Given the description of an element on the screen output the (x, y) to click on. 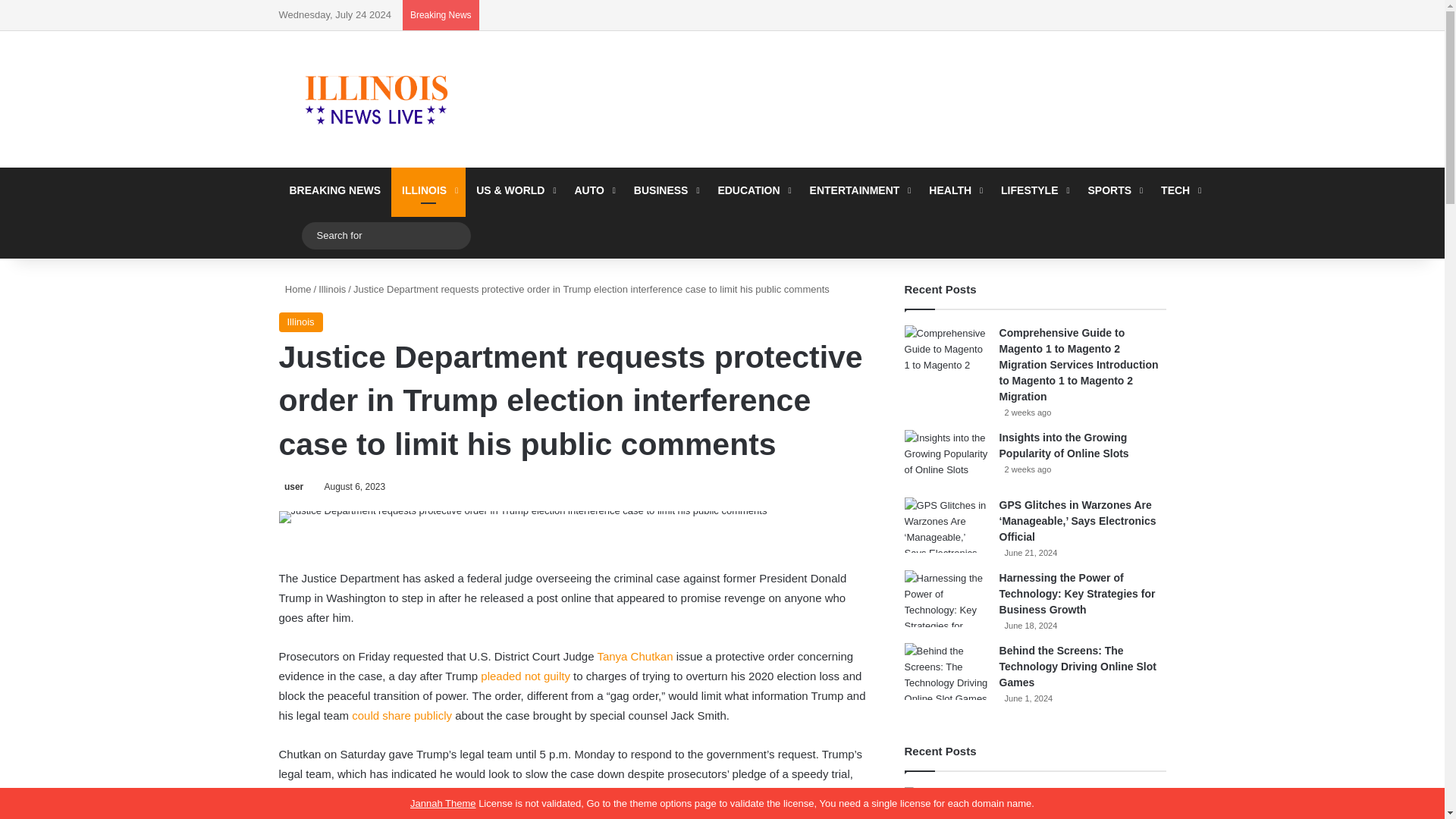
SPORTS (1114, 189)
EDUCATION (751, 189)
HEALTH (954, 189)
Illinoisnewstoday.com (377, 99)
Search for (385, 235)
pleaded not guilty (525, 675)
AUTO (593, 189)
TECH (1179, 189)
ENTERTAINMENT (858, 189)
Random Article (290, 235)
BREAKING NEWS (335, 189)
Jannah Theme (443, 803)
Tanya Chutkan (634, 656)
Illinois (301, 322)
Home (295, 288)
